Given the description of an element on the screen output the (x, y) to click on. 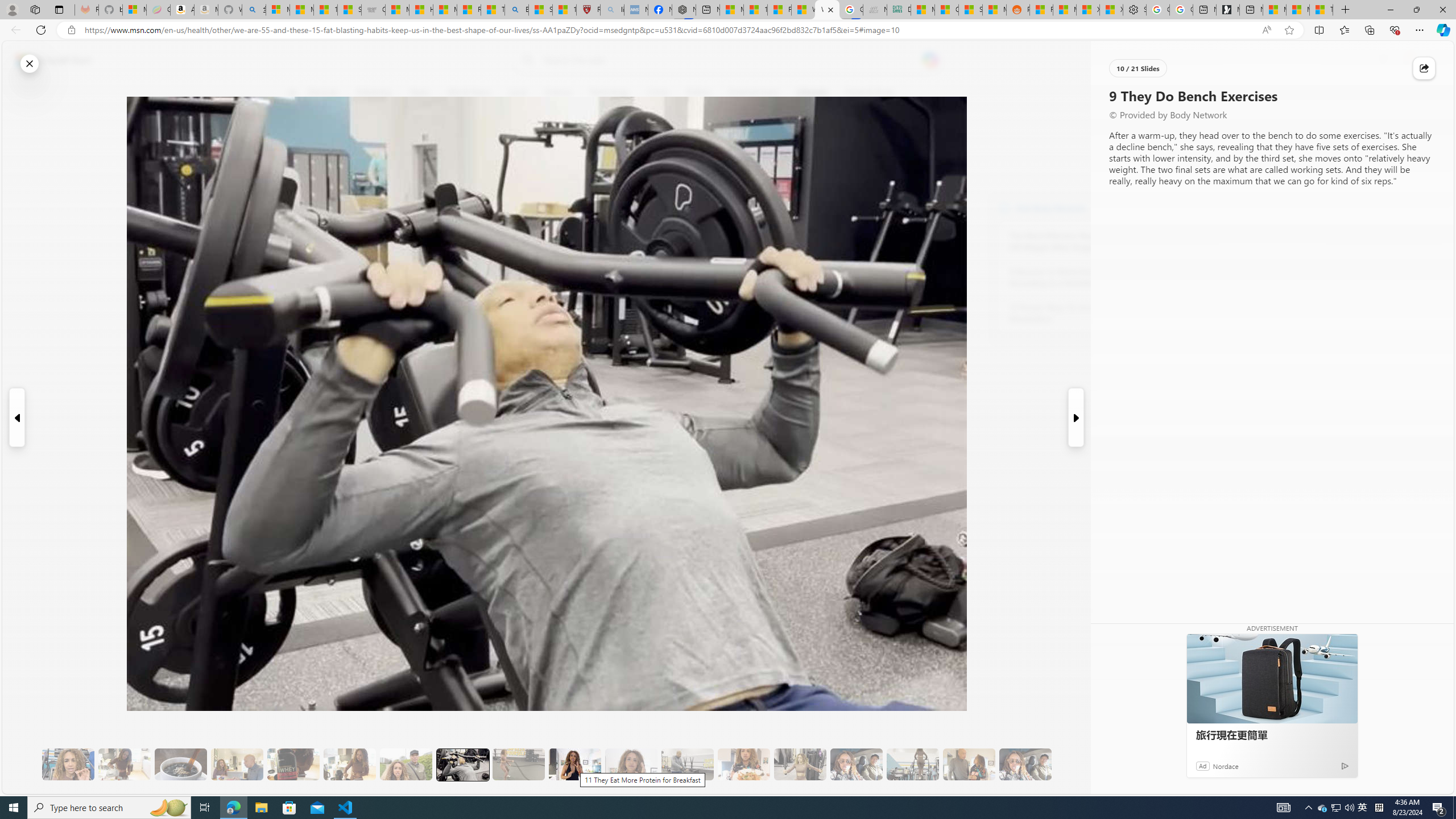
Robert H. Shmerling, MD - Harvard Health (588, 9)
Enter your search term (730, 59)
13 Her Husband Does Group Cardio Classs (687, 764)
